Given the description of an element on the screen output the (x, y) to click on. 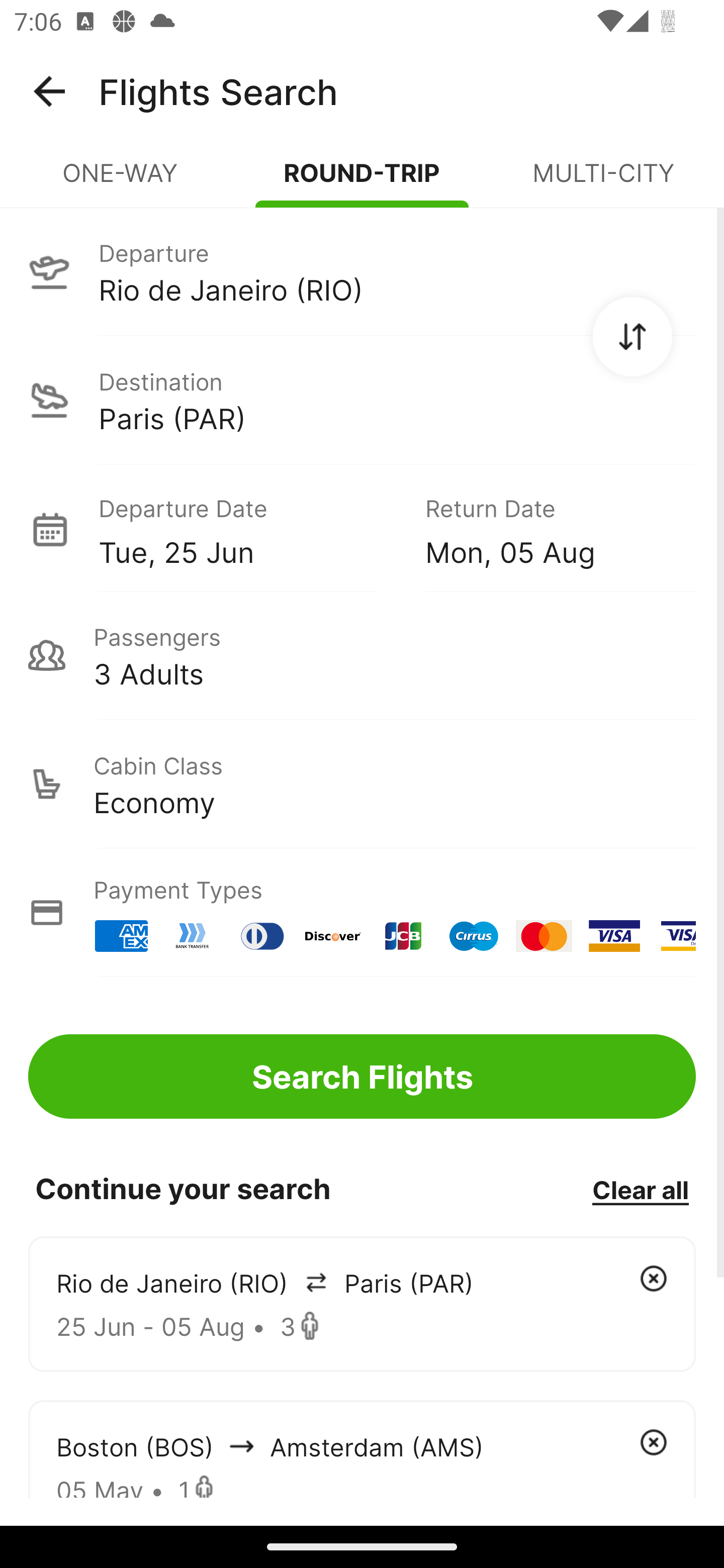
ONE-WAY (120, 180)
ROUND-TRIP (361, 180)
MULTI-CITY (603, 180)
Departure Rio de Janeiro (RIO) (362, 270)
Destination Paris (PAR) (362, 400)
Departure Date Tue, 25 Jun (247, 528)
Return Date Mon, 05 Aug (546, 528)
Passengers 3 Adults (362, 655)
Cabin Class Economy (362, 783)
Payment Types (362, 912)
Search Flights (361, 1075)
Clear all (640, 1189)
